Given the description of an element on the screen output the (x, y) to click on. 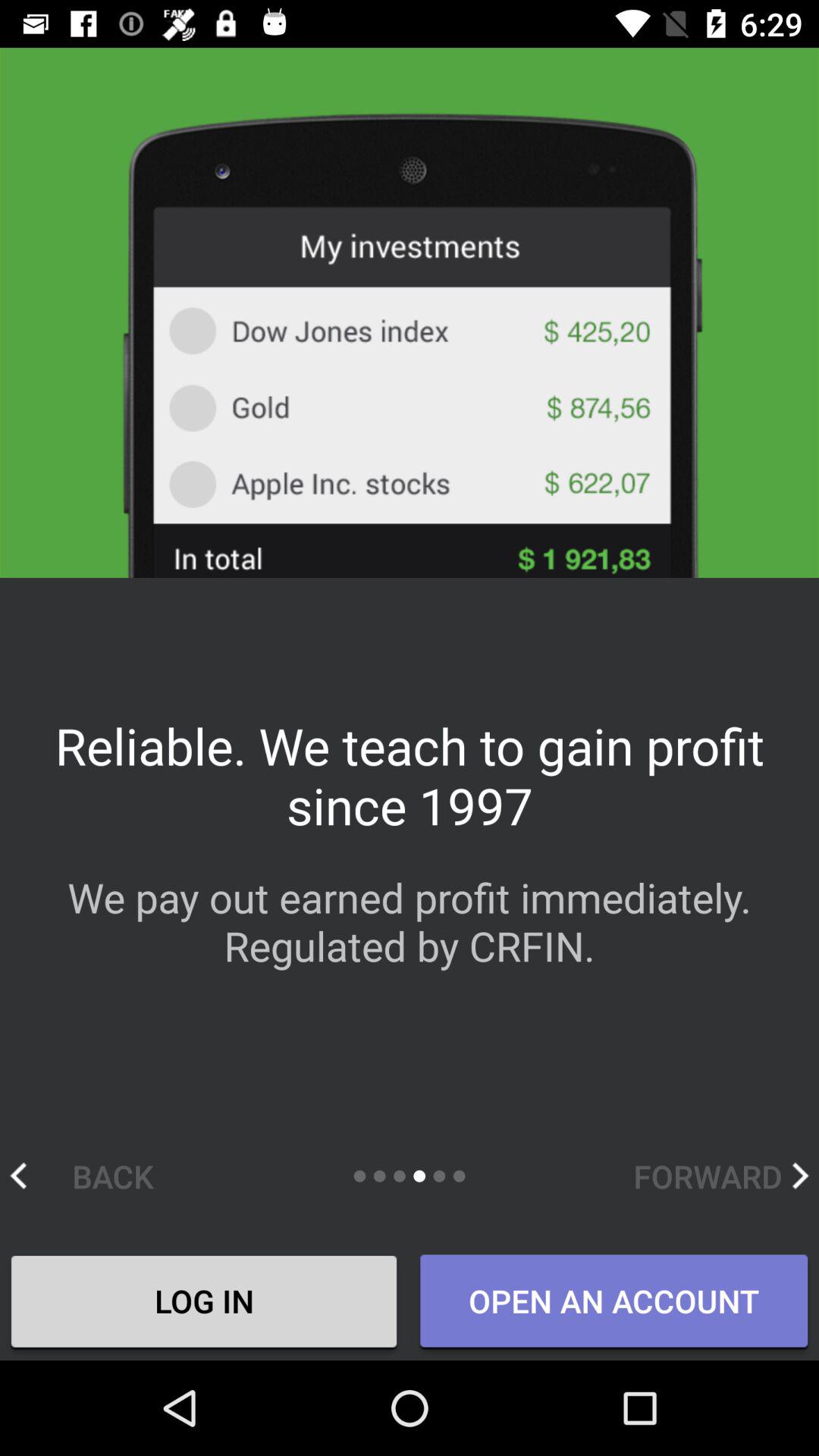
scroll to the forward (720, 1175)
